Given the description of an element on the screen output the (x, y) to click on. 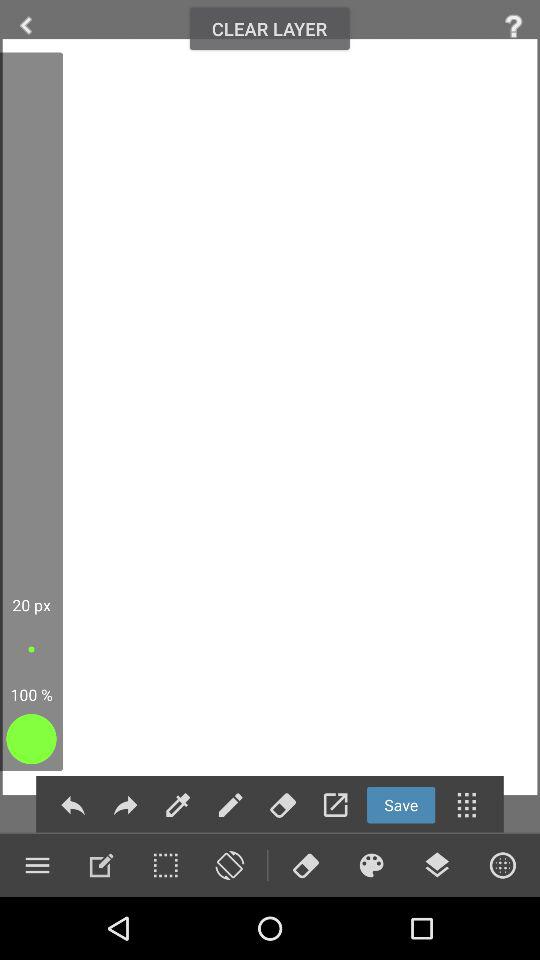
layers (437, 865)
